Given the description of an element on the screen output the (x, y) to click on. 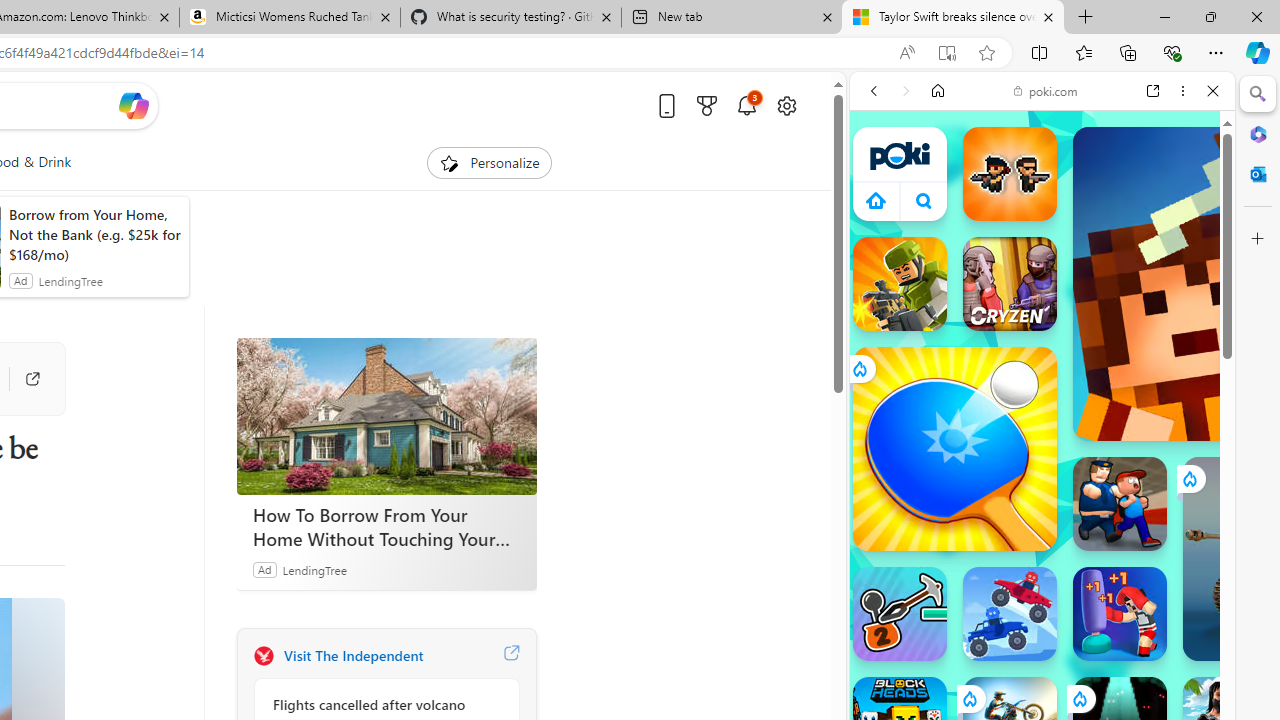
Shooting Games (1042, 518)
Show More Io Games (1164, 619)
Poki (1034, 288)
Zombie Rush (1009, 173)
Punch Legend Simulator (1119, 613)
Cryzen.io (1009, 283)
